Given the description of an element on the screen output the (x, y) to click on. 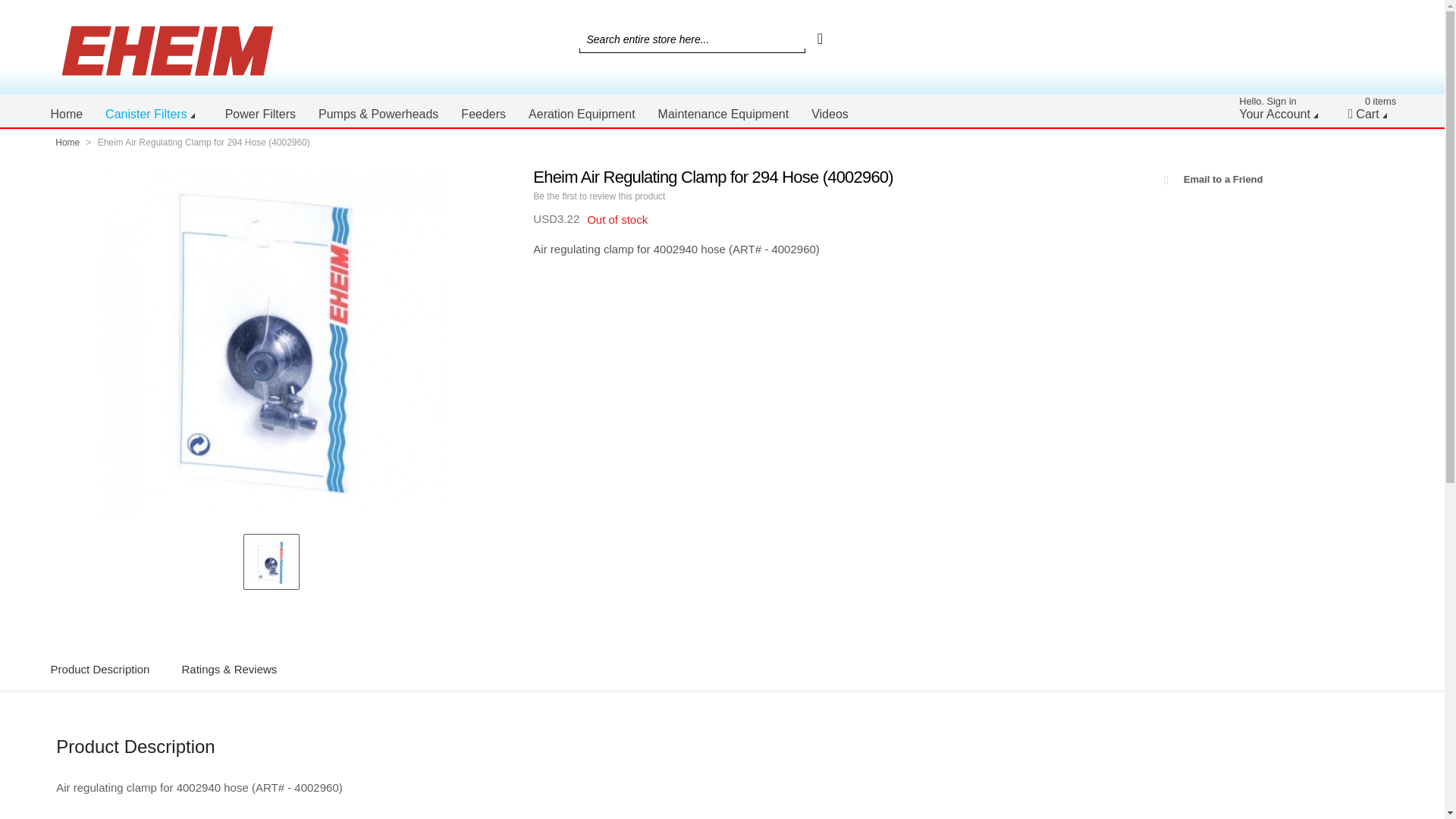
Home (66, 113)
Search (820, 38)
Canister Filters (154, 113)
Feeders (482, 113)
Go to Home Page (68, 142)
Aeration Equipment (581, 113)
Power Filters (260, 113)
Eheim (1281, 113)
